Given the description of an element on the screen output the (x, y) to click on. 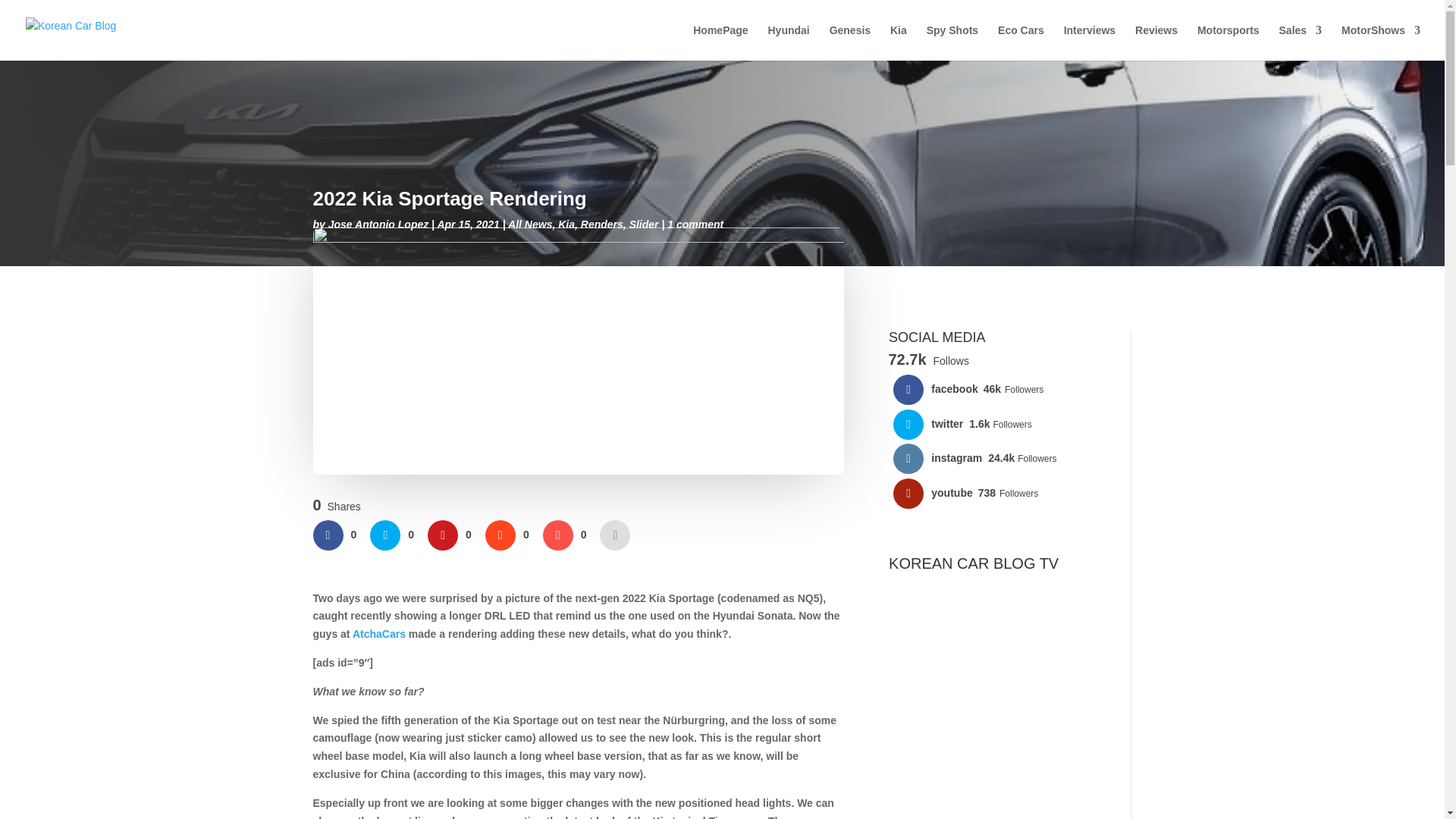
Sales (1300, 42)
Reviews (1156, 42)
2022 kia sportage nq5 rendering (578, 351)
HomePage (720, 42)
Interviews (1089, 42)
Motorsports (1227, 42)
Hyundai IONIQ 9 Spied Testing in the Arctic Circle (998, 719)
Home (720, 42)
Hyundai (788, 42)
Genesis (849, 42)
MotorShows (1380, 42)
Posts by Jose Antonio Lopez (378, 224)
Eco Cars (1020, 42)
Spy Shots (952, 42)
